Given the description of an element on the screen output the (x, y) to click on. 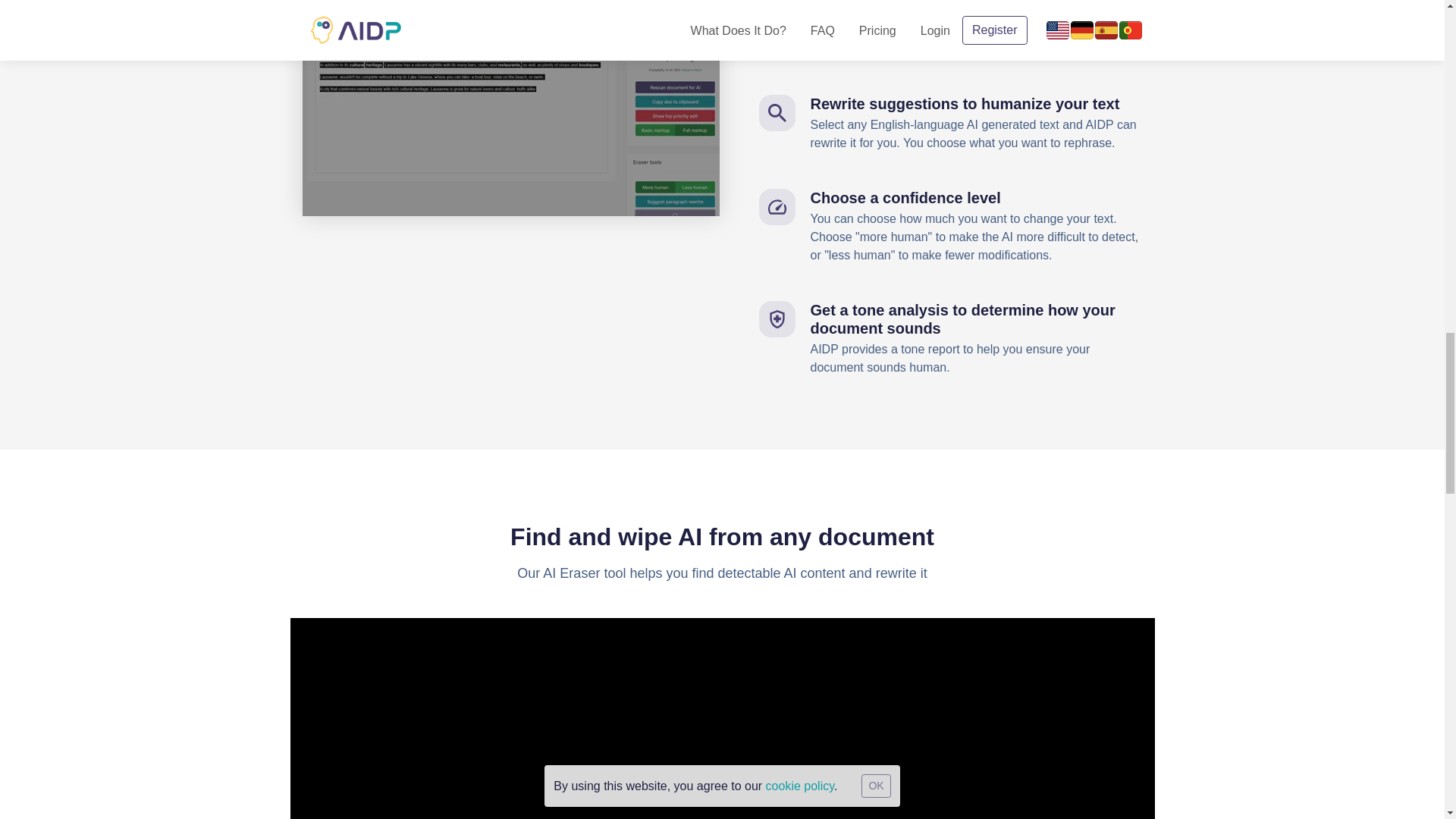
AI generated text detector (510, 108)
